Given the description of an element on the screen output the (x, y) to click on. 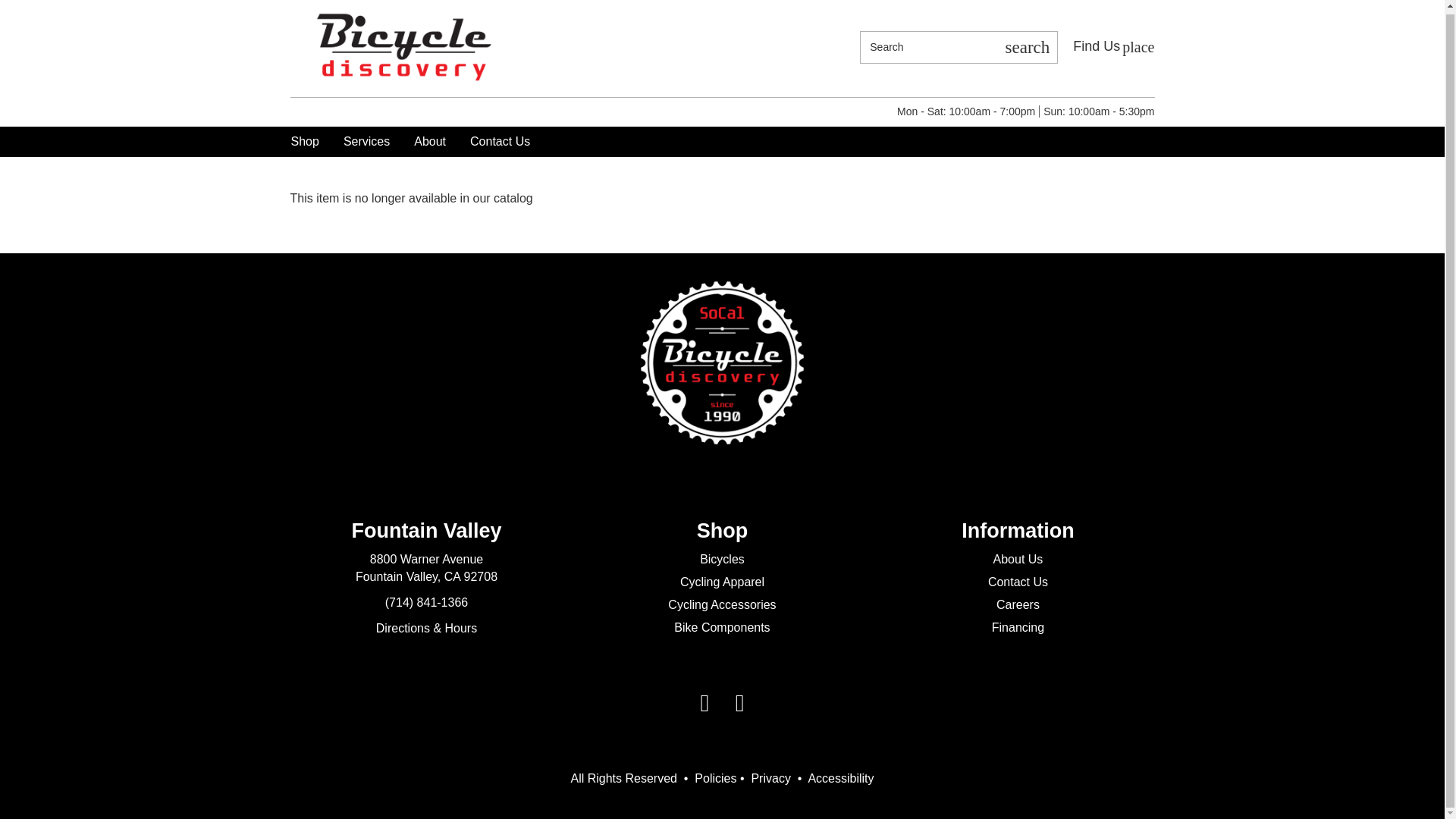
Shop (304, 141)
Search (1113, 46)
Store (927, 47)
Search (1113, 46)
Bicycle Discovery Home Page (1026, 47)
